Given the description of an element on the screen output the (x, y) to click on. 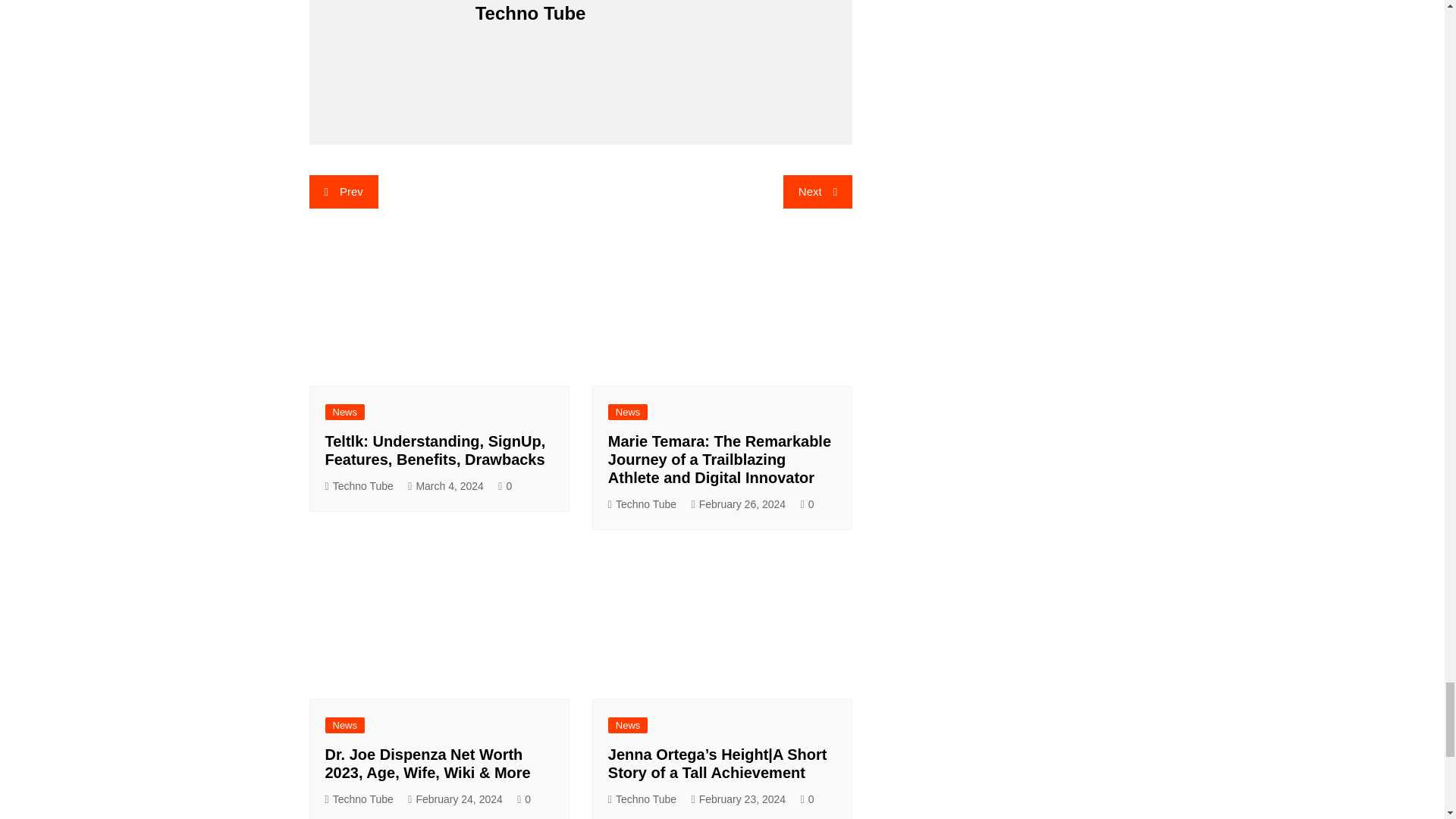
Techno Tube (358, 486)
News (344, 412)
Next (817, 191)
Prev (343, 191)
Teltlk: Understanding, SignUp, Features, Benefits, Drawbacks (434, 450)
March 4, 2024 (445, 486)
